Given the description of an element on the screen output the (x, y) to click on. 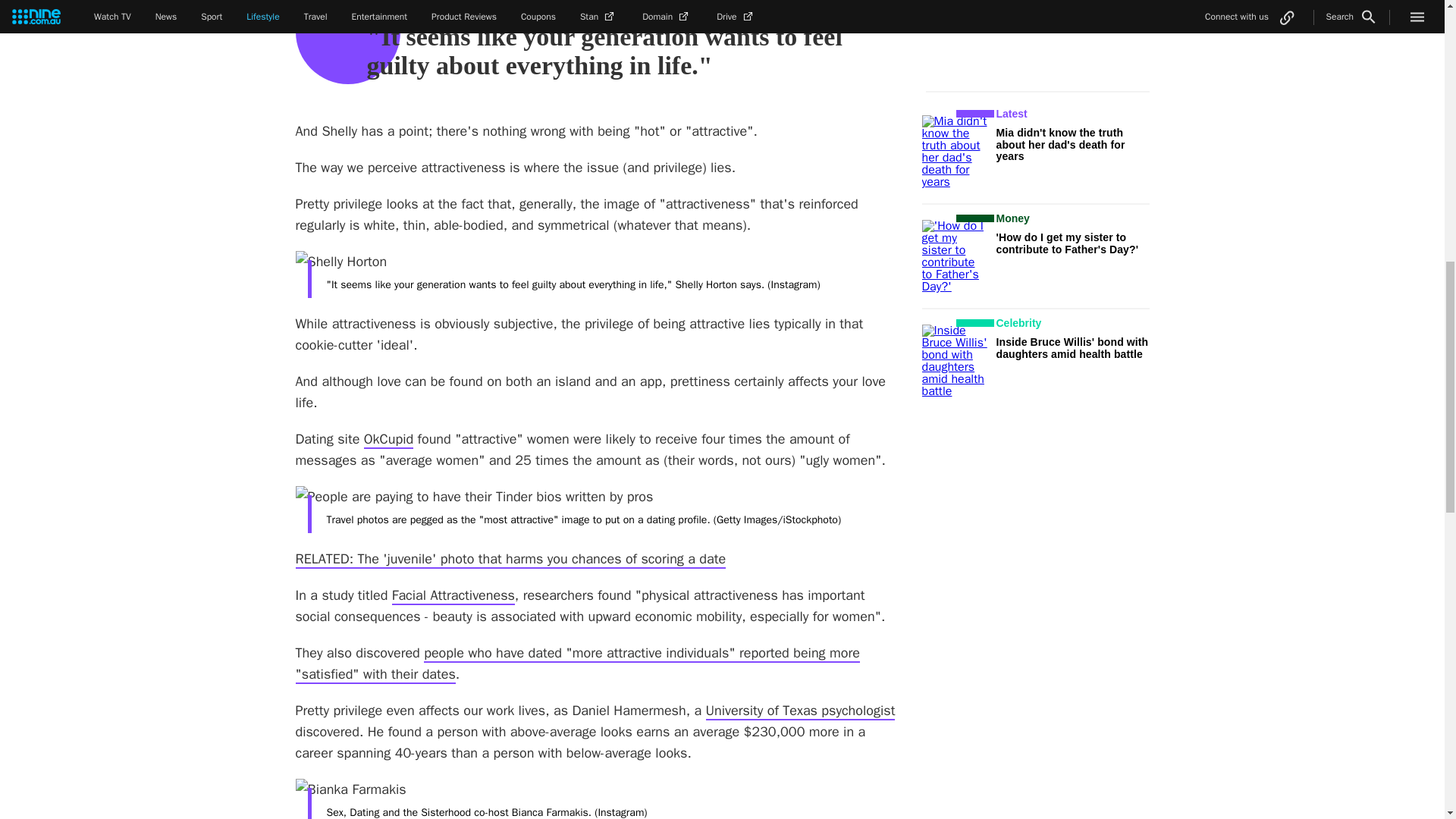
OkCupid (388, 439)
University of Texas psychologist (800, 710)
Facial Attractiveness (453, 596)
